Given the description of an element on the screen output the (x, y) to click on. 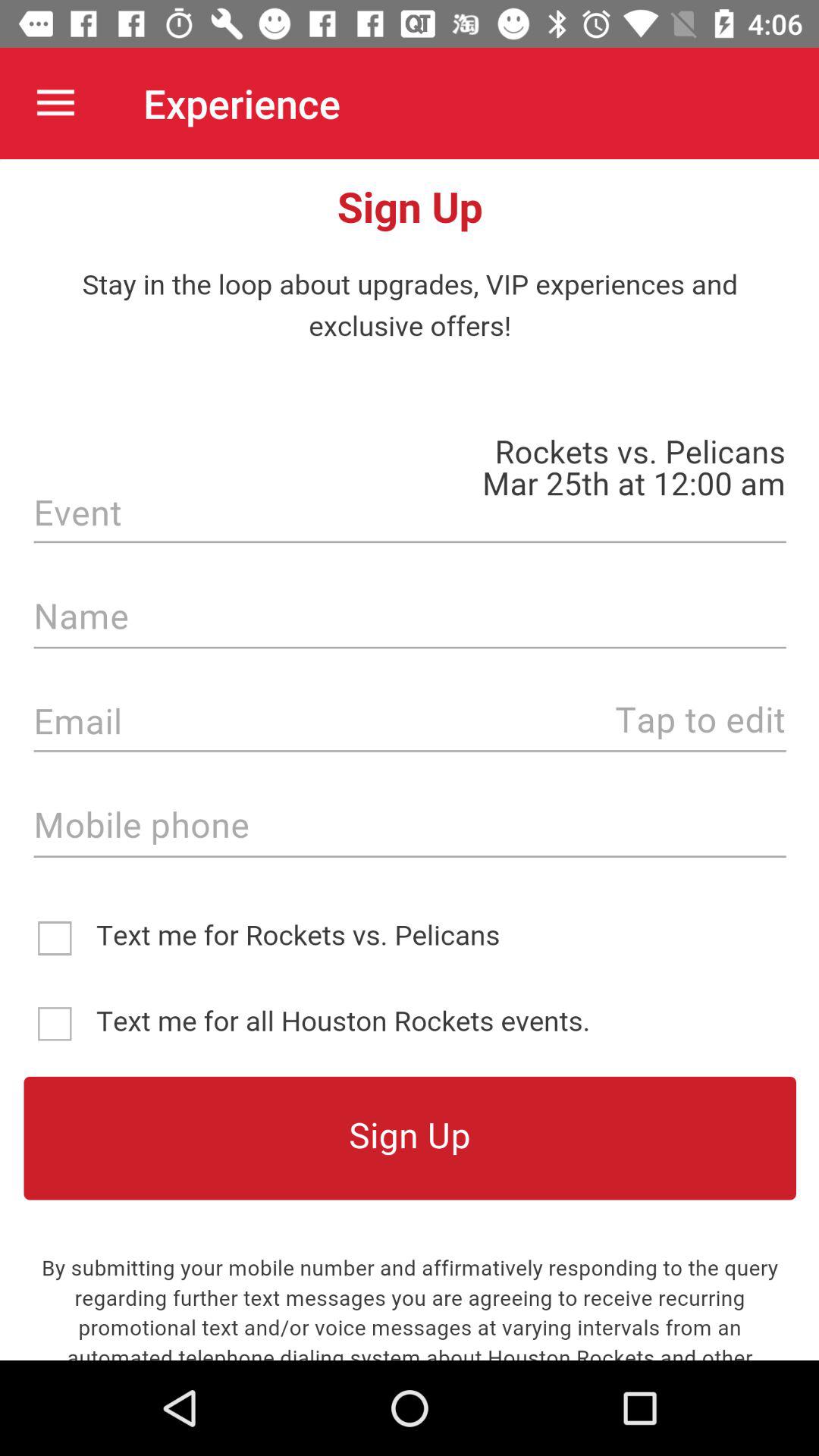
description (409, 759)
